Given the description of an element on the screen output the (x, y) to click on. 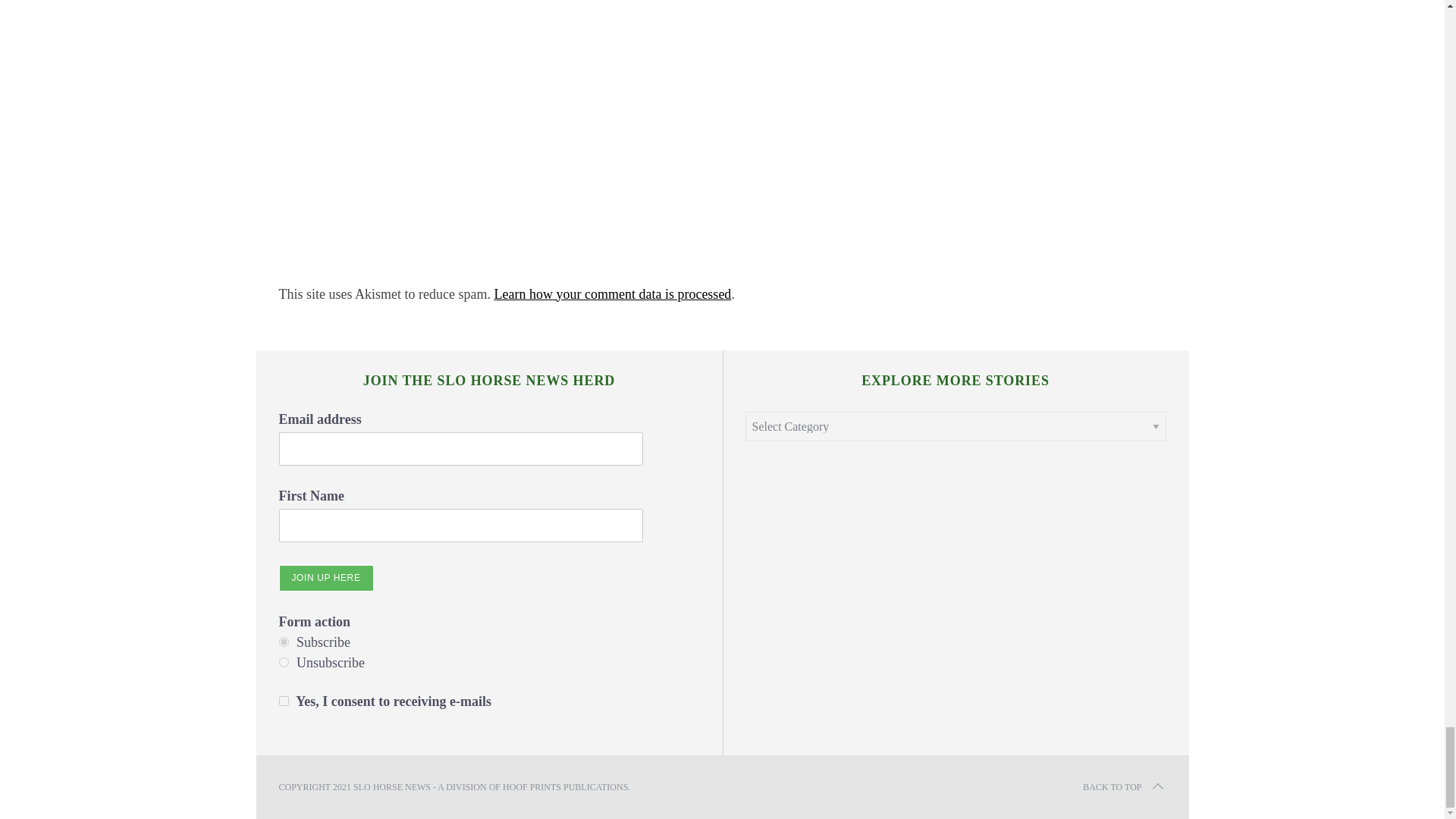
unsubscribe (283, 662)
Join up here (326, 578)
subscribe (283, 642)
1 (283, 700)
